Given the description of an element on the screen output the (x, y) to click on. 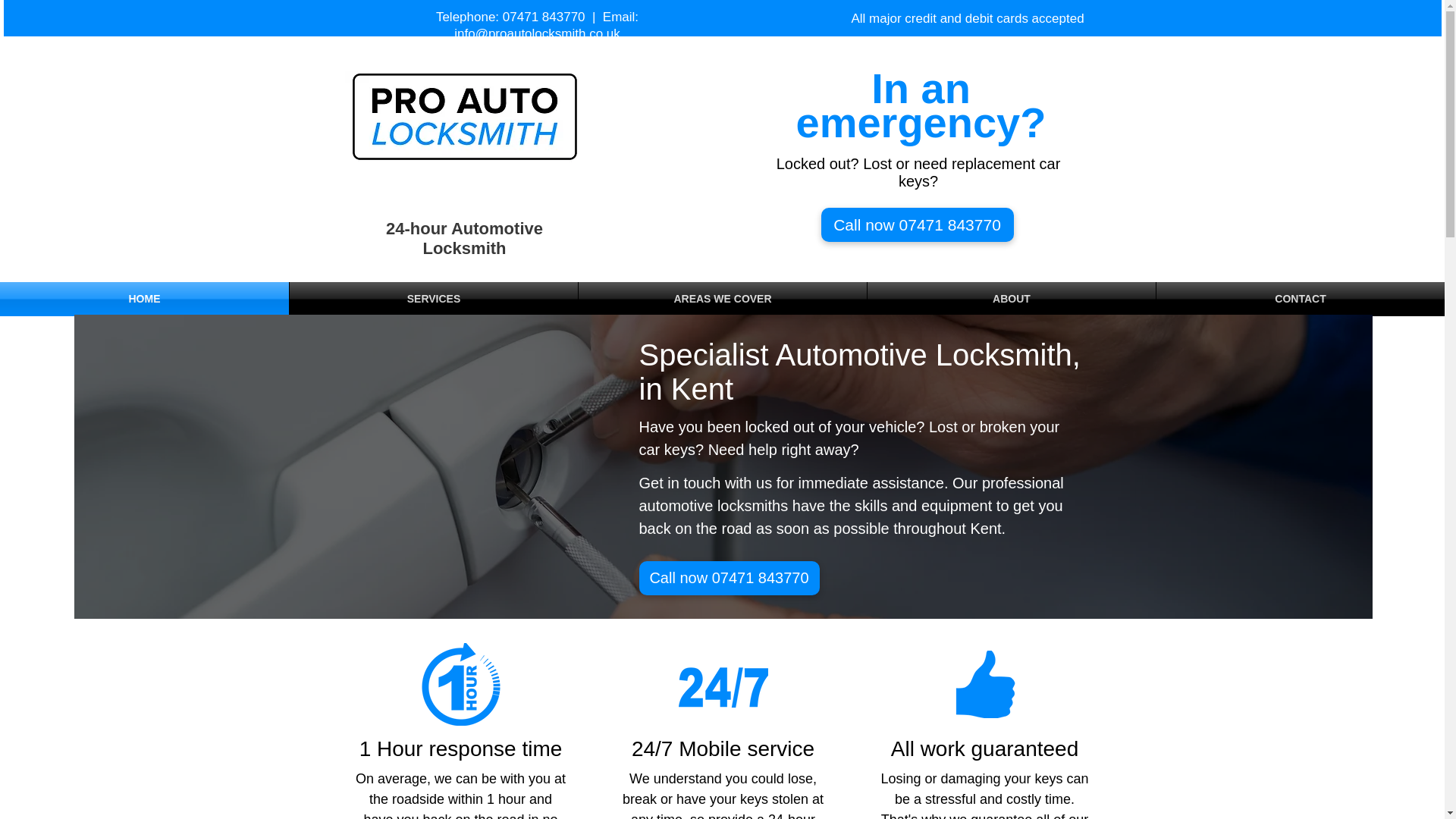
Call now 07471 843770 (917, 224)
HOME (144, 298)
SERVICES (433, 298)
AREAS WE COVER (722, 298)
PAL logo (463, 116)
ABOUT (1011, 298)
07471 843770 (543, 16)
